Given the description of an element on the screen output the (x, y) to click on. 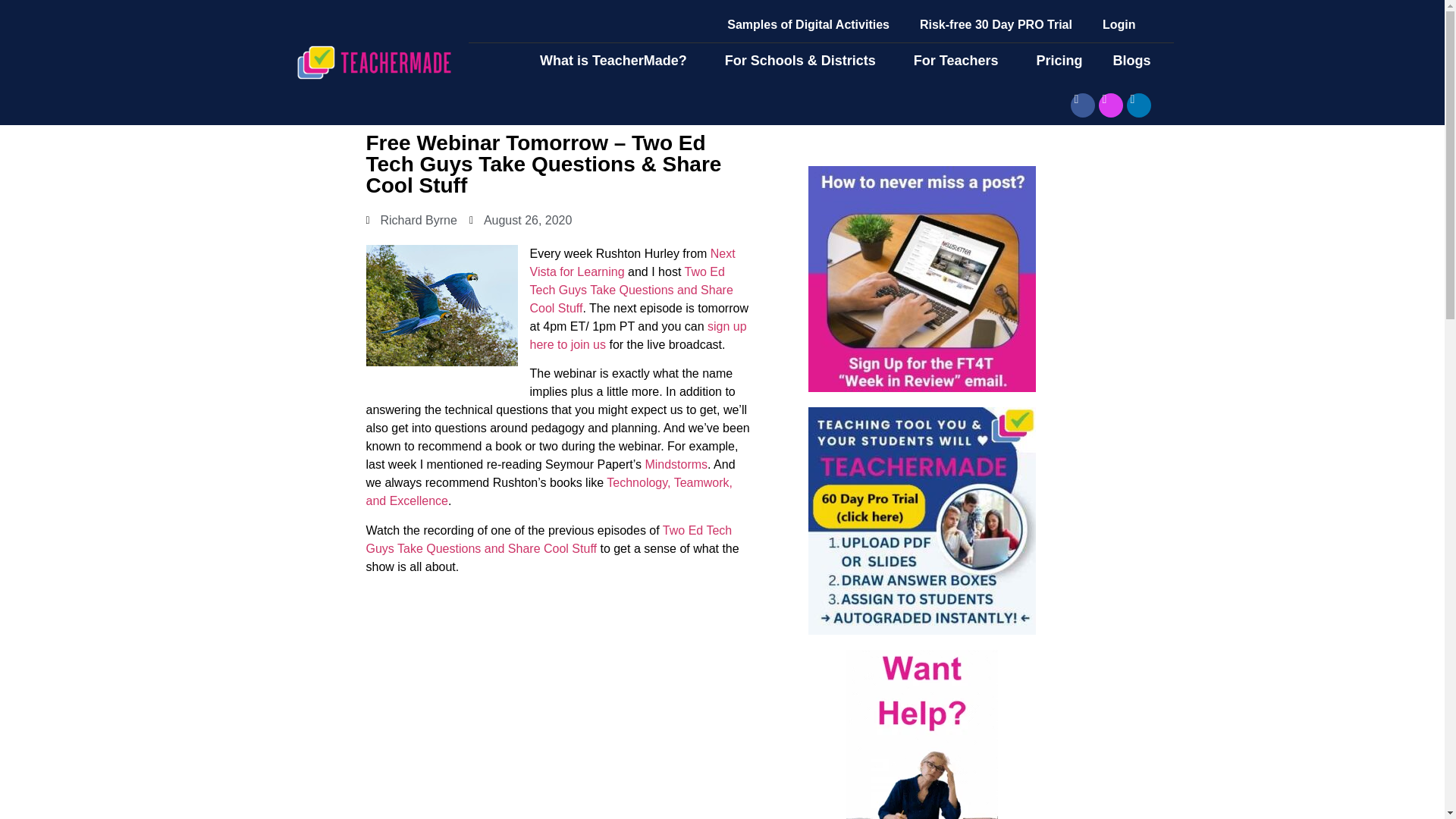
Blogs (1135, 60)
What is TeacherMade? (617, 60)
Login (1119, 24)
Samples of Digital Activities (807, 24)
Risk-free 30 Day PRO Trial (995, 24)
Pricing (1058, 60)
For Teachers (960, 60)
